Given the description of an element on the screen output the (x, y) to click on. 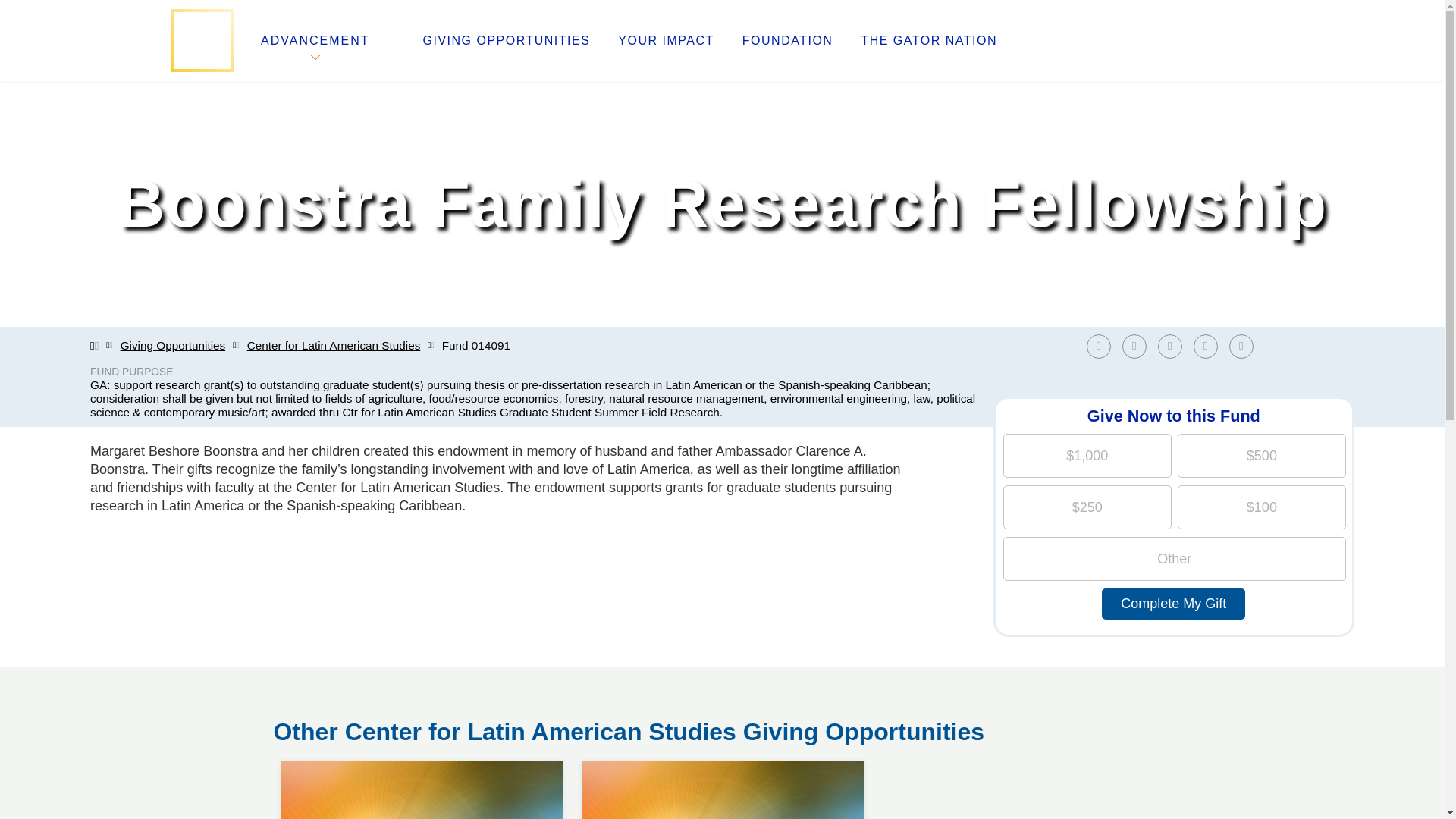
Giving Opportunities (172, 345)
Share on Reddit (1209, 345)
Share on Reddit (1205, 346)
Share on Facebook (1098, 346)
Share on LinkedIn (1169, 346)
FOUNDATION (721, 761)
THE GATOR NATION (787, 40)
Center for Latin American Studies (928, 40)
Share on Twitter (333, 345)
